Given the description of an element on the screen output the (x, y) to click on. 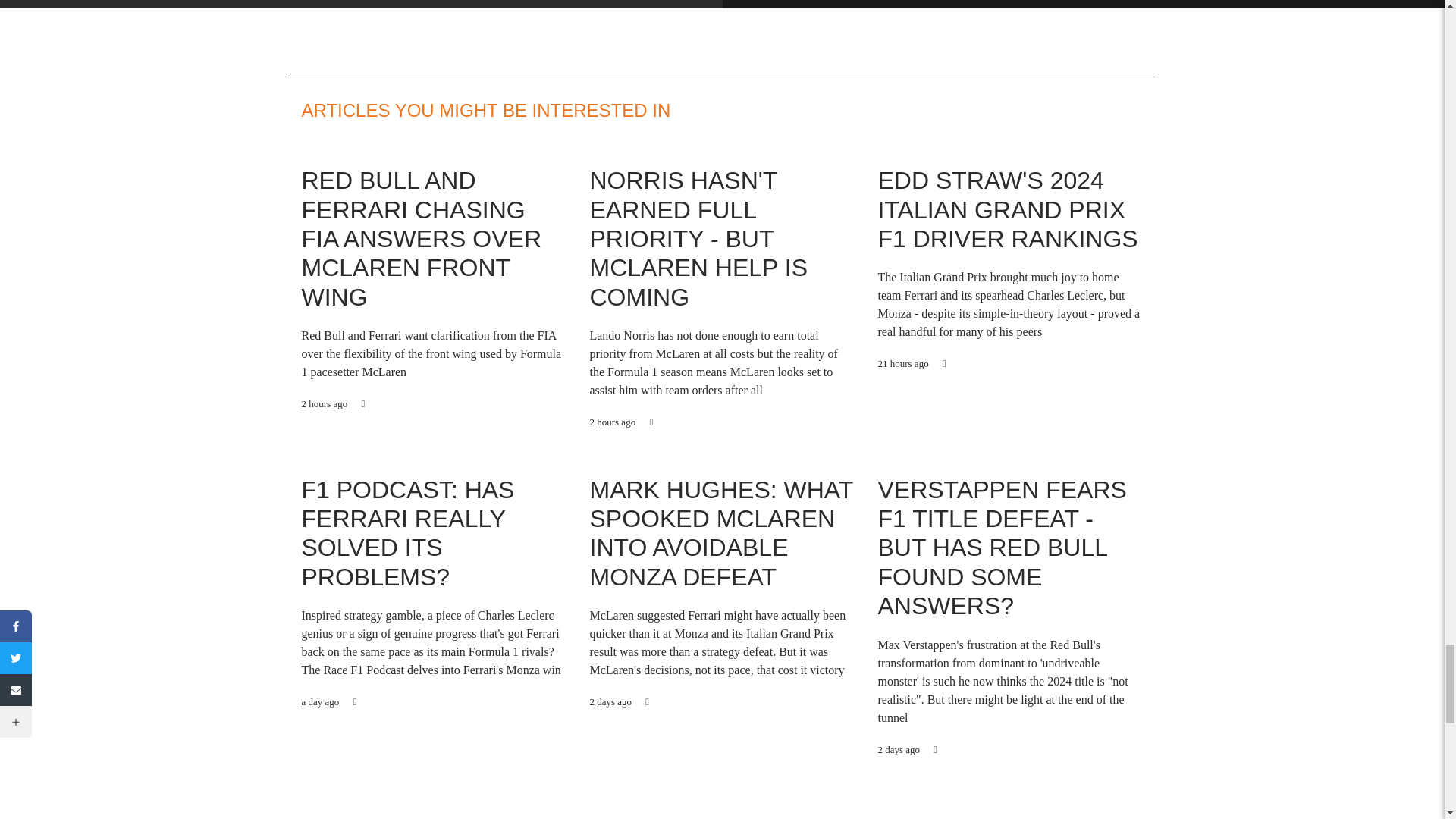
EDD STRAW'S 2024 ITALIAN GRAND PRIX F1 DRIVER RANKINGS (1007, 209)
